Given the description of an element on the screen output the (x, y) to click on. 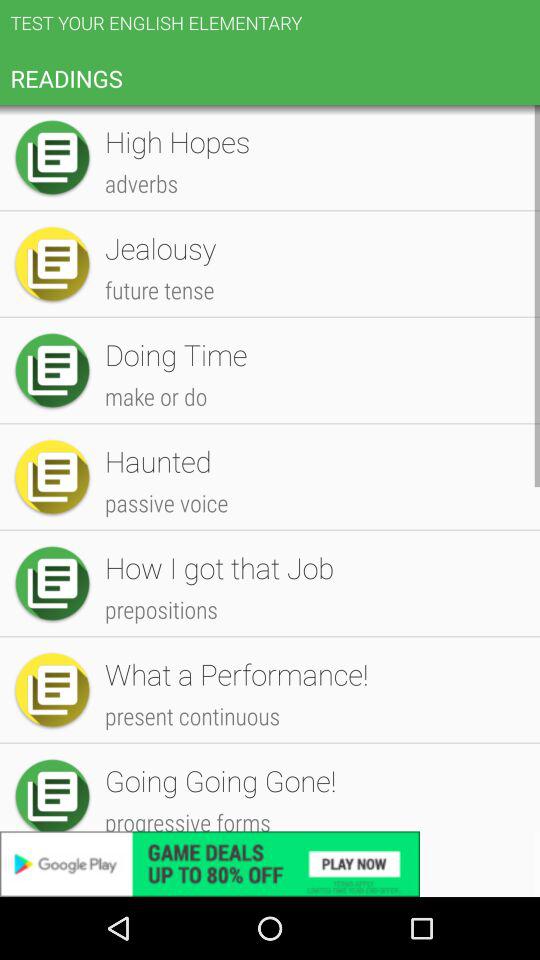
select icon below random test (311, 384)
